Given the description of an element on the screen output the (x, y) to click on. 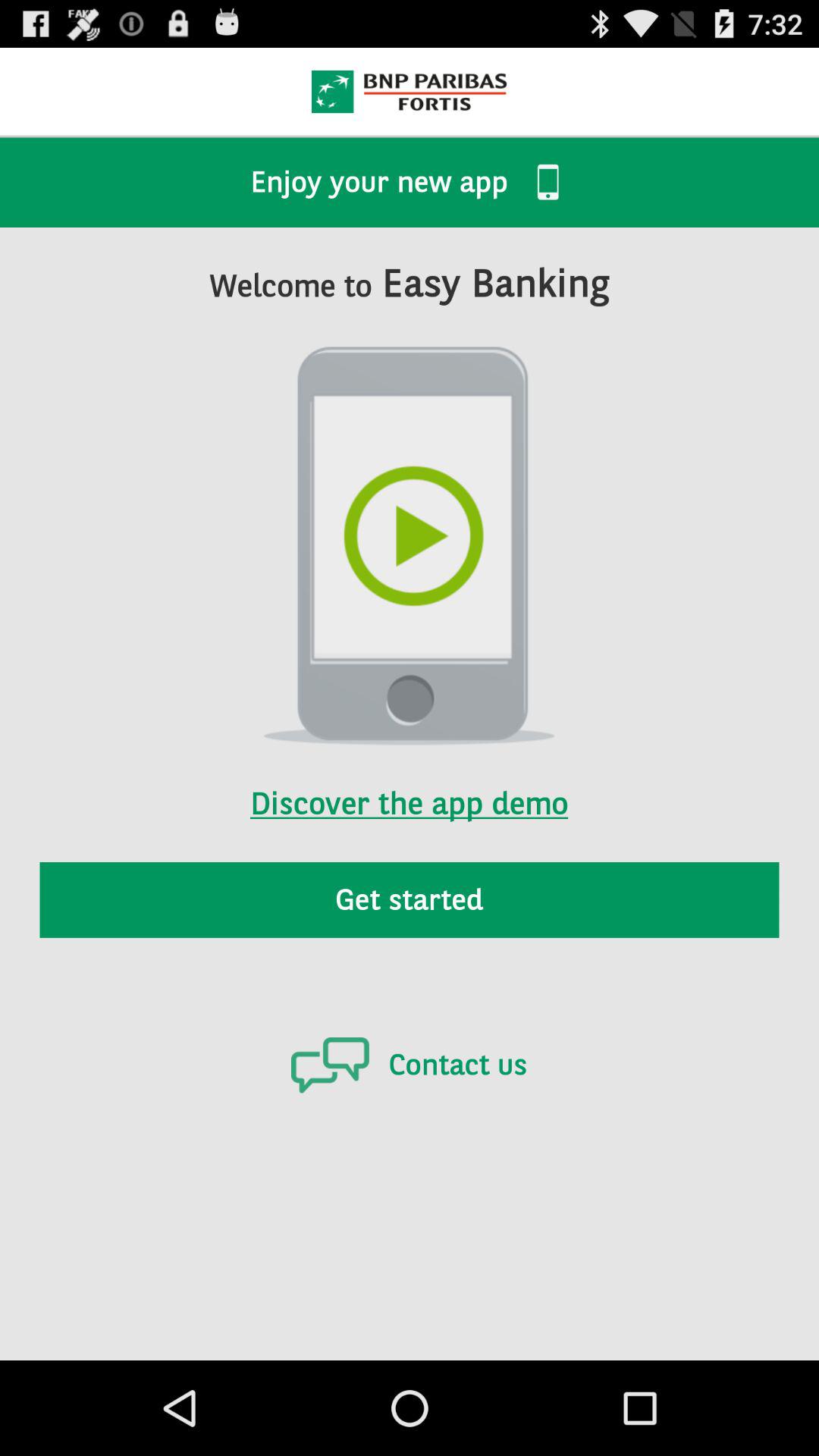
launch the contact us icon (409, 1065)
